Given the description of an element on the screen output the (x, y) to click on. 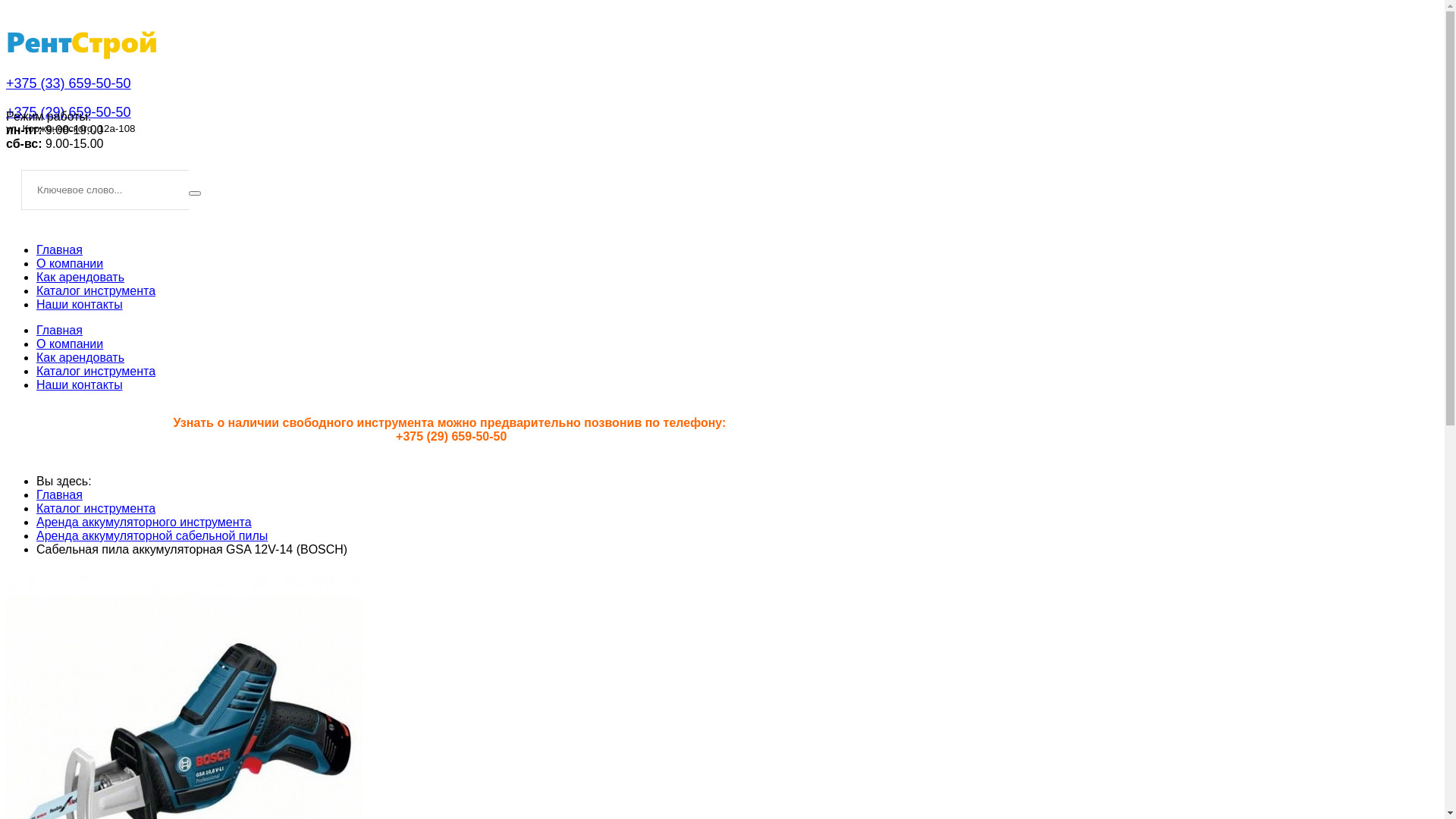
+375 (33) 659-50-50 Element type: text (68, 83)
+375 (29) 659-50-50 Element type: text (68, 111)
Rentstori.by Element type: hover (81, 42)
Rentstori.by Element type: hover (81, 67)
